Given the description of an element on the screen output the (x, y) to click on. 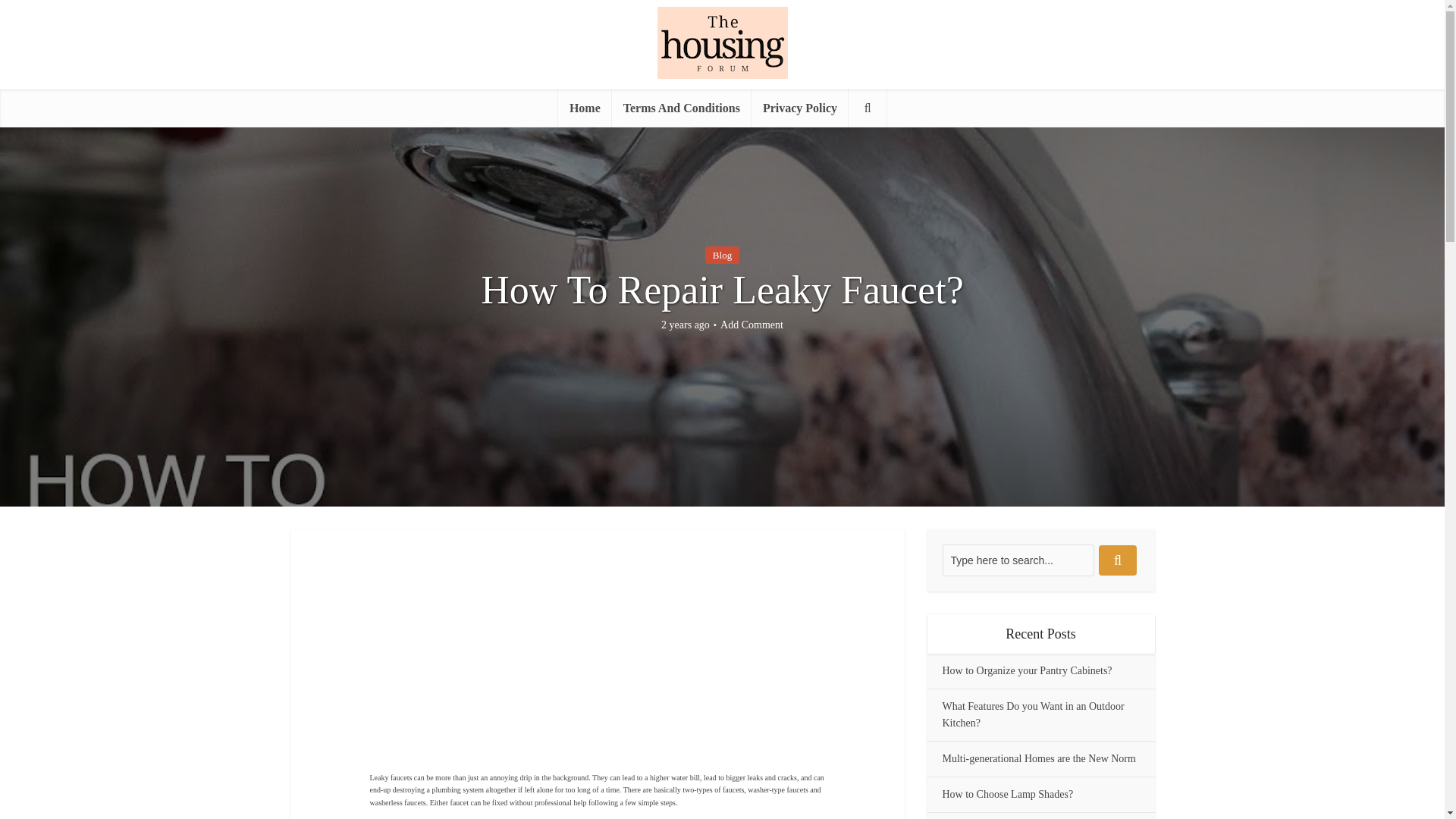
Privacy Policy (799, 108)
Home (584, 108)
Advertisement (657, 662)
Terms And Conditions (681, 108)
Blog (721, 254)
Add Comment (751, 325)
Type here to search... (1017, 560)
Type here to search... (1017, 560)
